Given the description of an element on the screen output the (x, y) to click on. 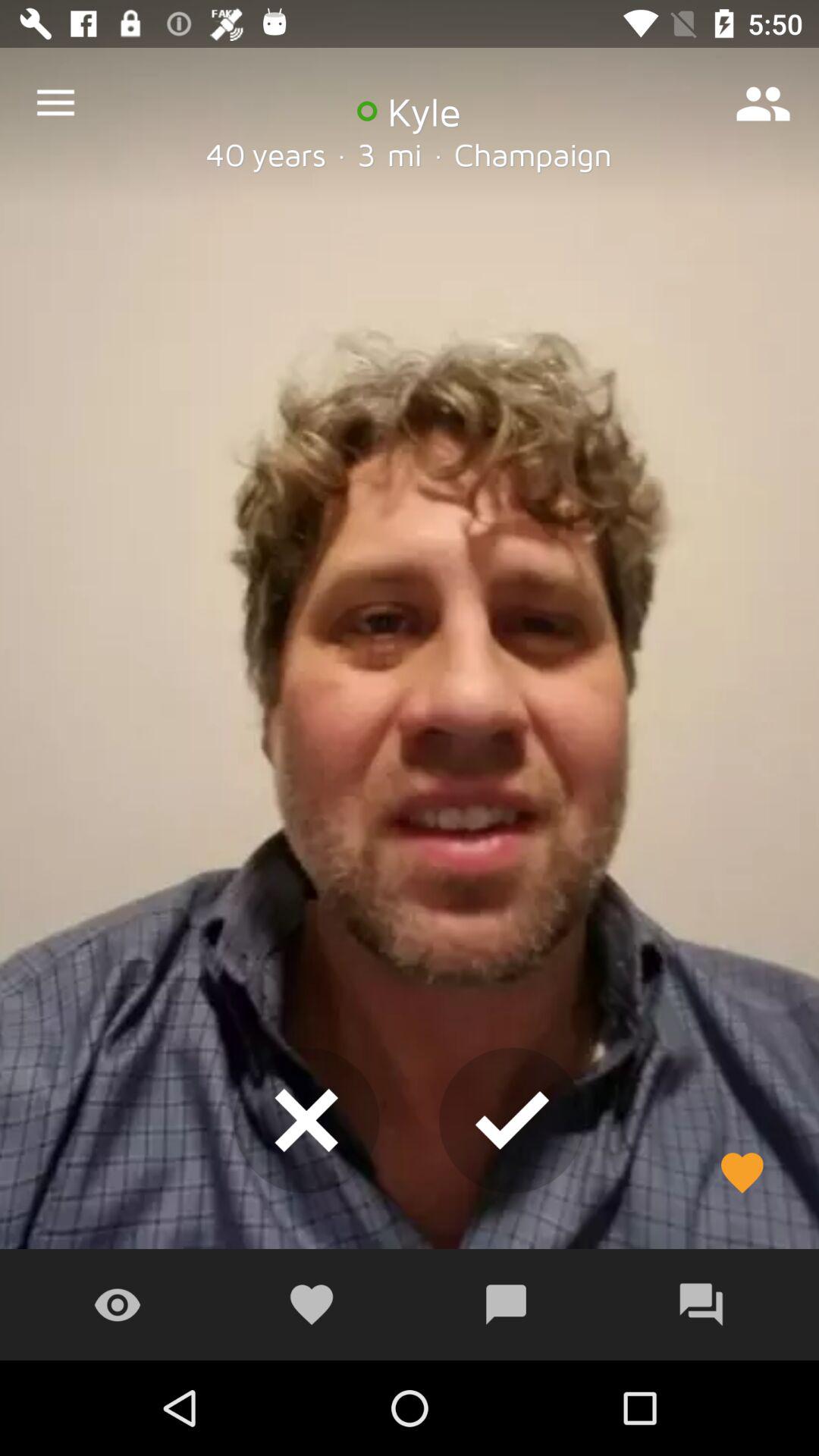
click on the tick option (511, 1120)
click on the eye symbol button (117, 1304)
select the logo below tick mark (506, 1304)
click on the icon which is above the heart symbol (306, 1120)
click on like icon which is to the right of view icon (311, 1304)
